Given the description of an element on the screen output the (x, y) to click on. 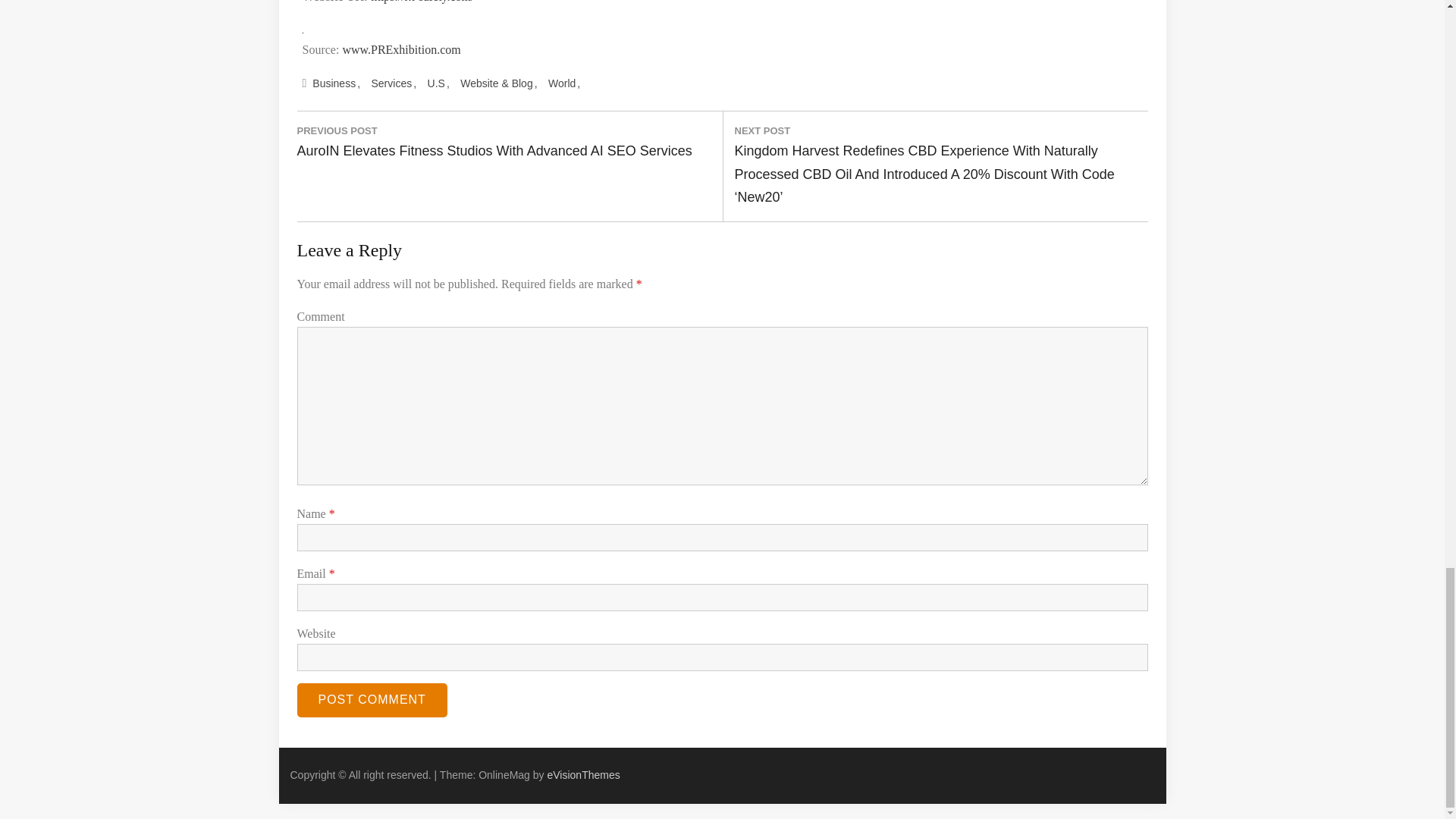
Post Comment (371, 700)
Post Comment (371, 700)
www.PRExhibition.com (401, 49)
Business (335, 84)
Services (394, 84)
World (563, 84)
U.S (438, 84)
